Given the description of an element on the screen output the (x, y) to click on. 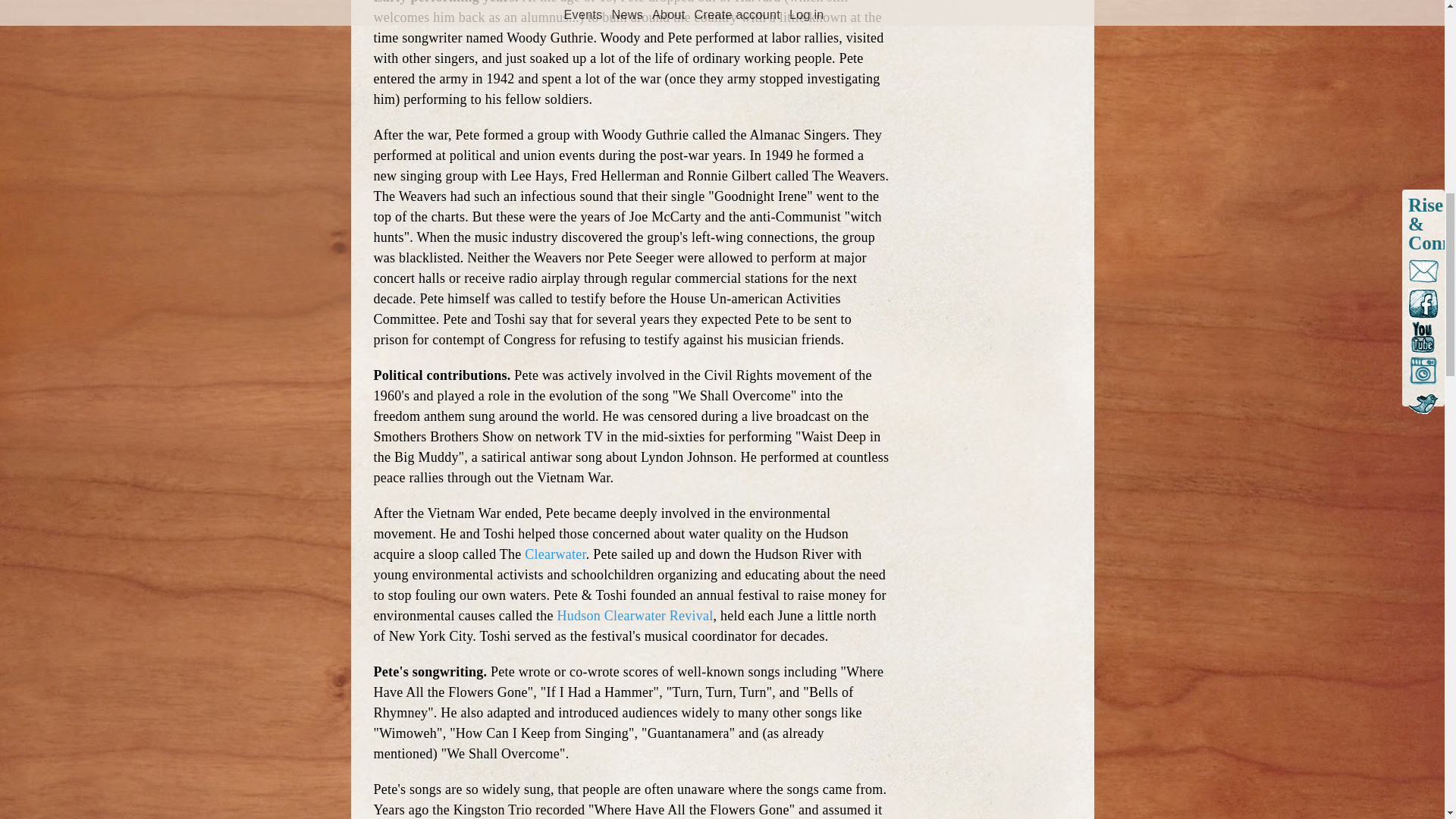
Clearwater (554, 553)
Hudson Clearwater Revival (634, 615)
